Given the description of an element on the screen output the (x, y) to click on. 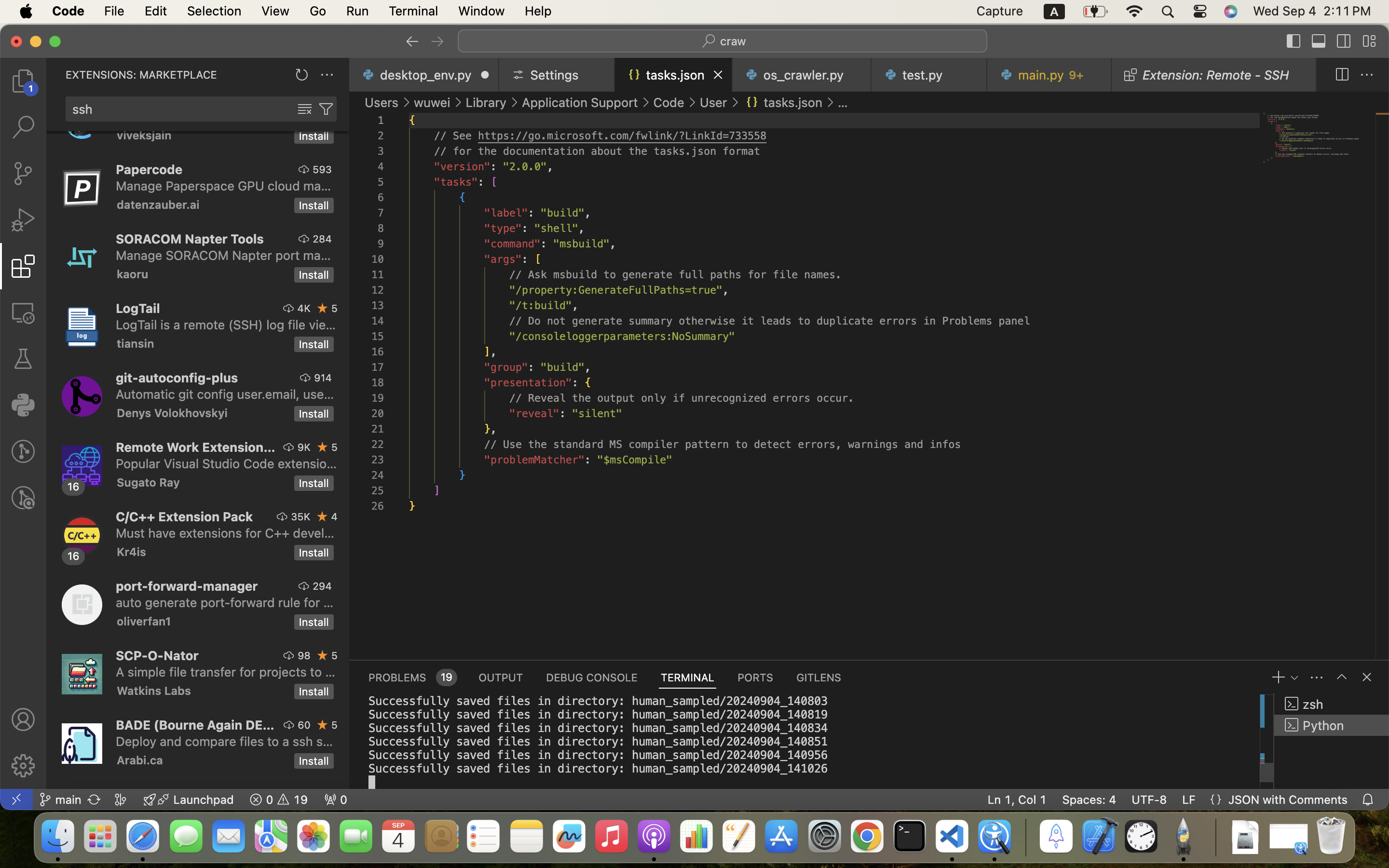
0  Element type: AXRadioButton (23, 358)
0 desktop_env.py   Element type: AXRadioButton (424, 74)
 Element type: AXButton (1369, 41)
BADE (Bourne Again DEploy) Element type: AXStaticText (194, 724)
Kr4is Element type: AXStaticText (131, 551)
